Given the description of an element on the screen output the (x, y) to click on. 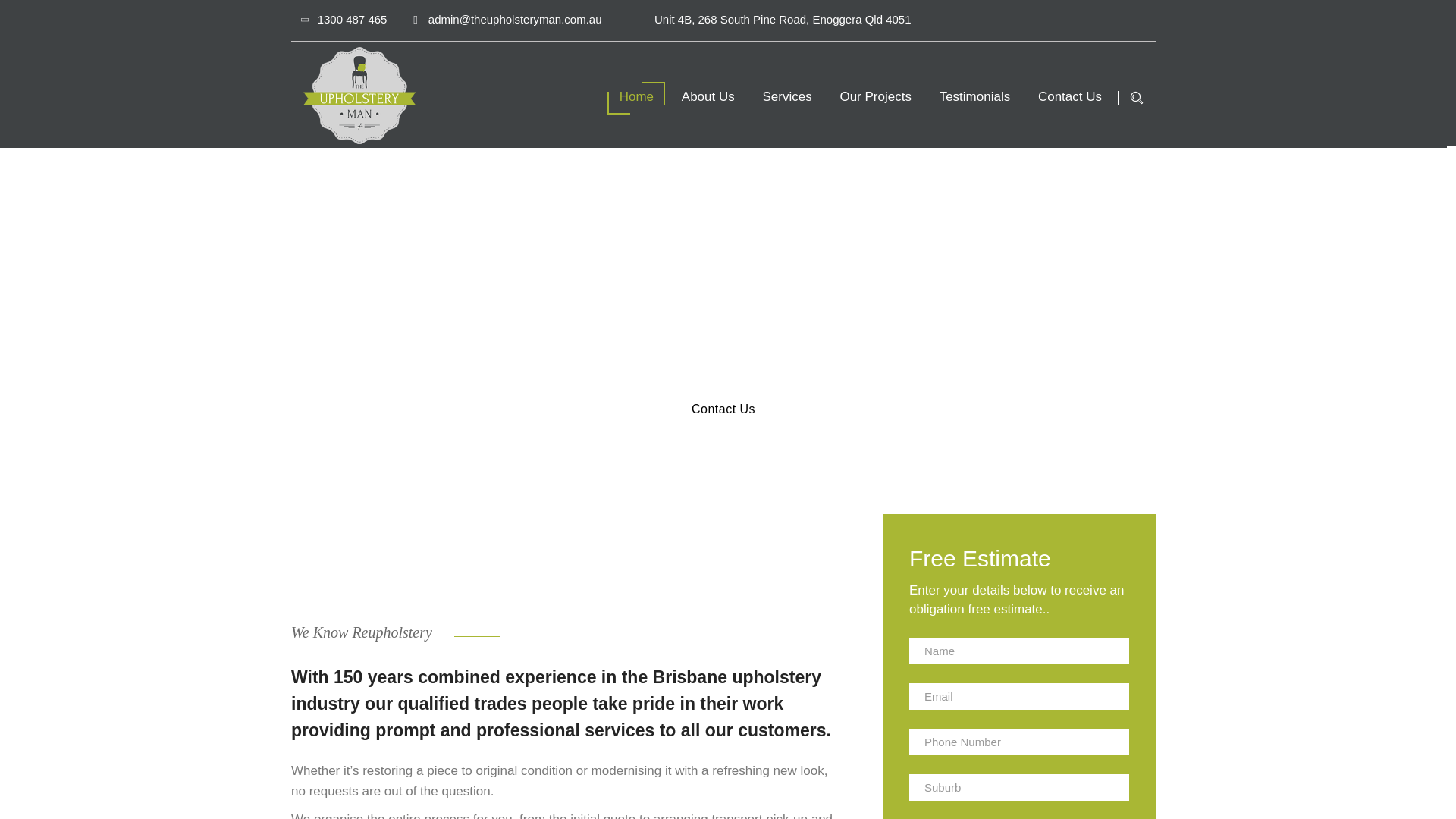
Contact Us (722, 409)
1300 487 465 (344, 19)
Home (636, 96)
Testimonials (974, 96)
Contact Us (1070, 96)
Services (785, 96)
About Us (708, 96)
Our Projects (875, 96)
